Given the description of an element on the screen output the (x, y) to click on. 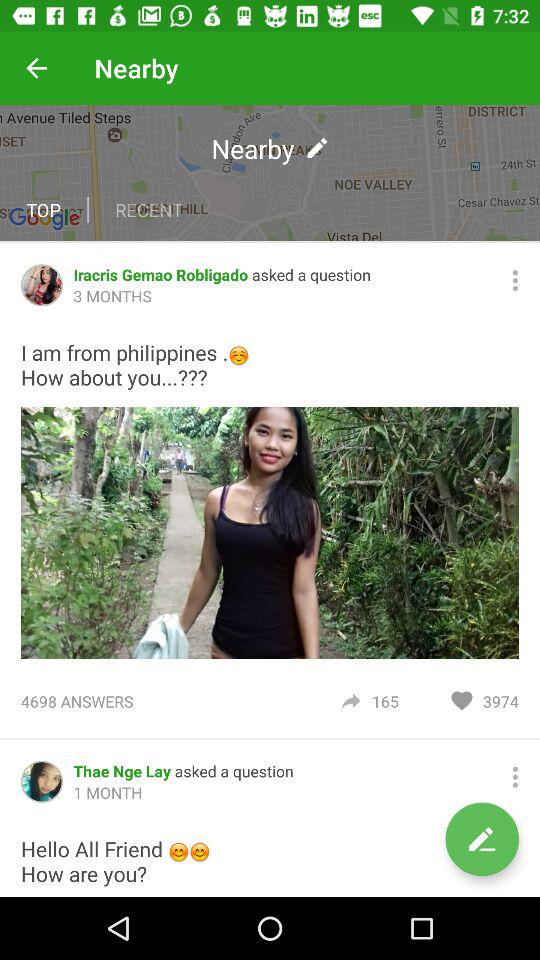
launch the item to the right of the hello all friend (482, 839)
